Given the description of an element on the screen output the (x, y) to click on. 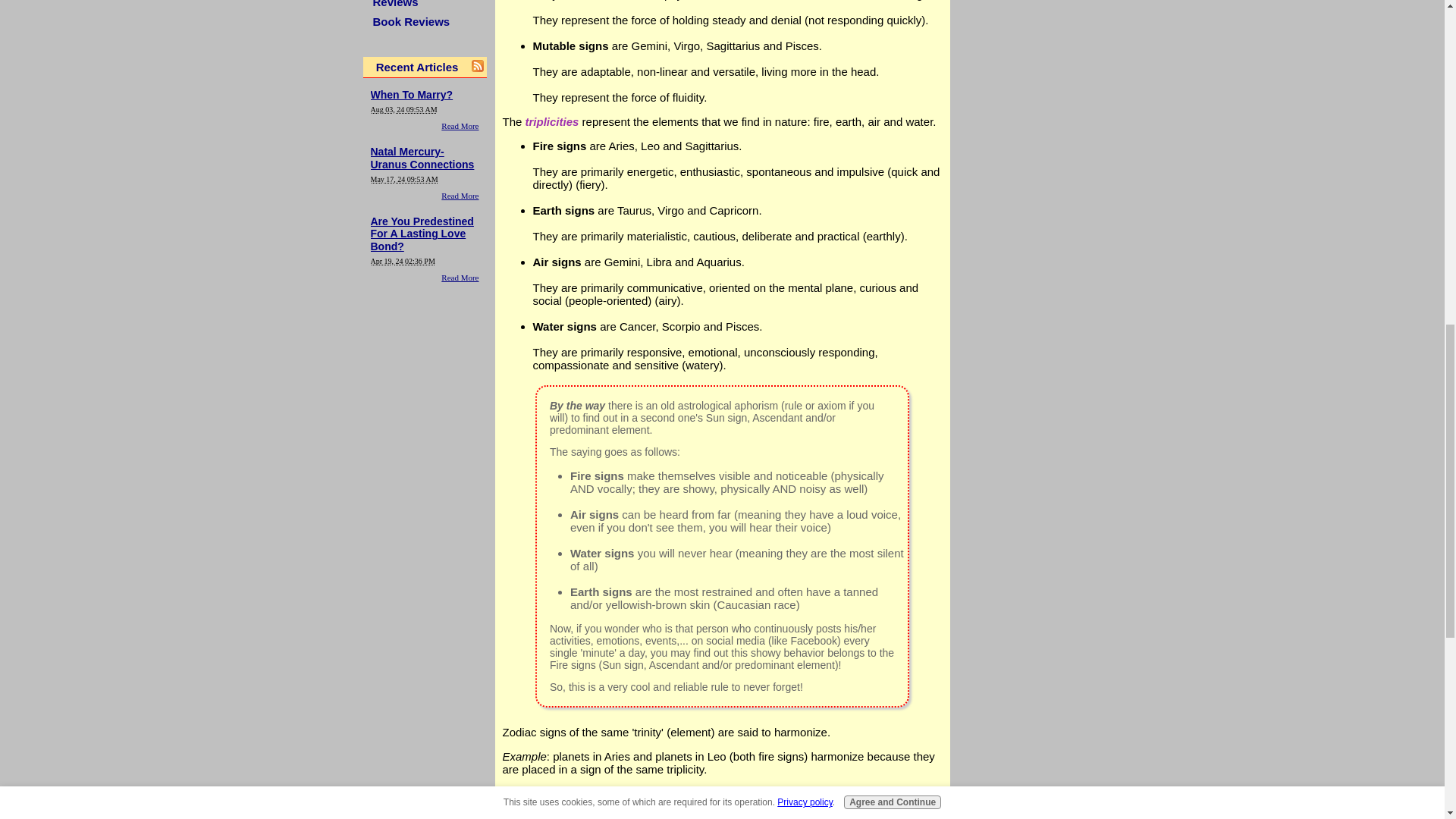
2024-08-03T09:53:15-0400 (402, 109)
2024-05-17T09:53:29-0400 (403, 179)
2024-04-19T14:36:54-0400 (401, 261)
